Given the description of an element on the screen output the (x, y) to click on. 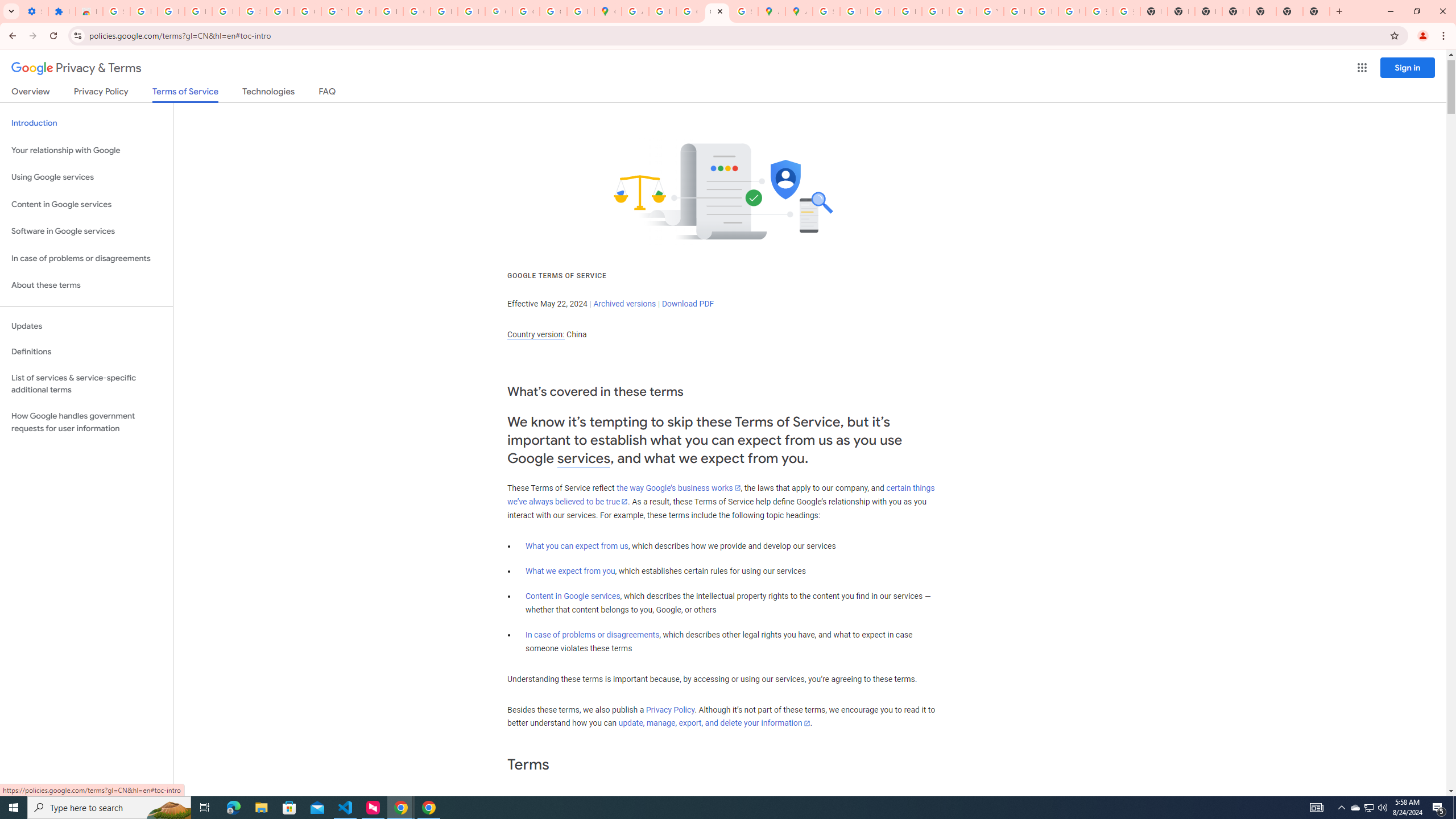
Definitions (86, 352)
Overview (30, 93)
New Tab (1289, 11)
List of services & service-specific additional terms (86, 383)
Reviews: Helix Fruit Jump Arcade Game (88, 11)
Privacy Policy (669, 709)
System (6, 6)
Browse Chrome as a guest - Computer - Google Chrome Help (1017, 11)
